Given the description of an element on the screen output the (x, y) to click on. 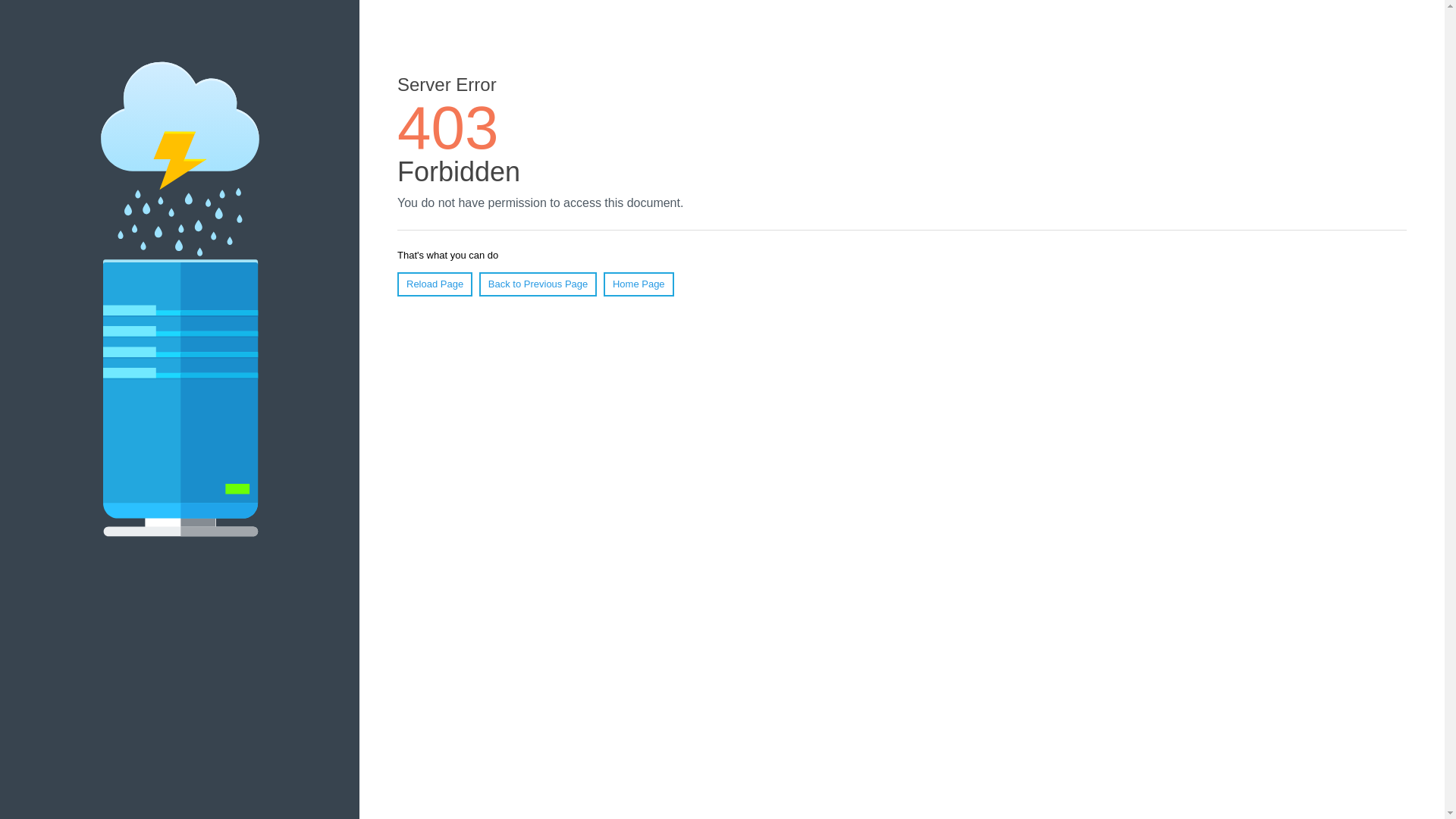
Reload Page Element type: text (434, 284)
Back to Previous Page Element type: text (538, 284)
Home Page Element type: text (638, 284)
